Given the description of an element on the screen output the (x, y) to click on. 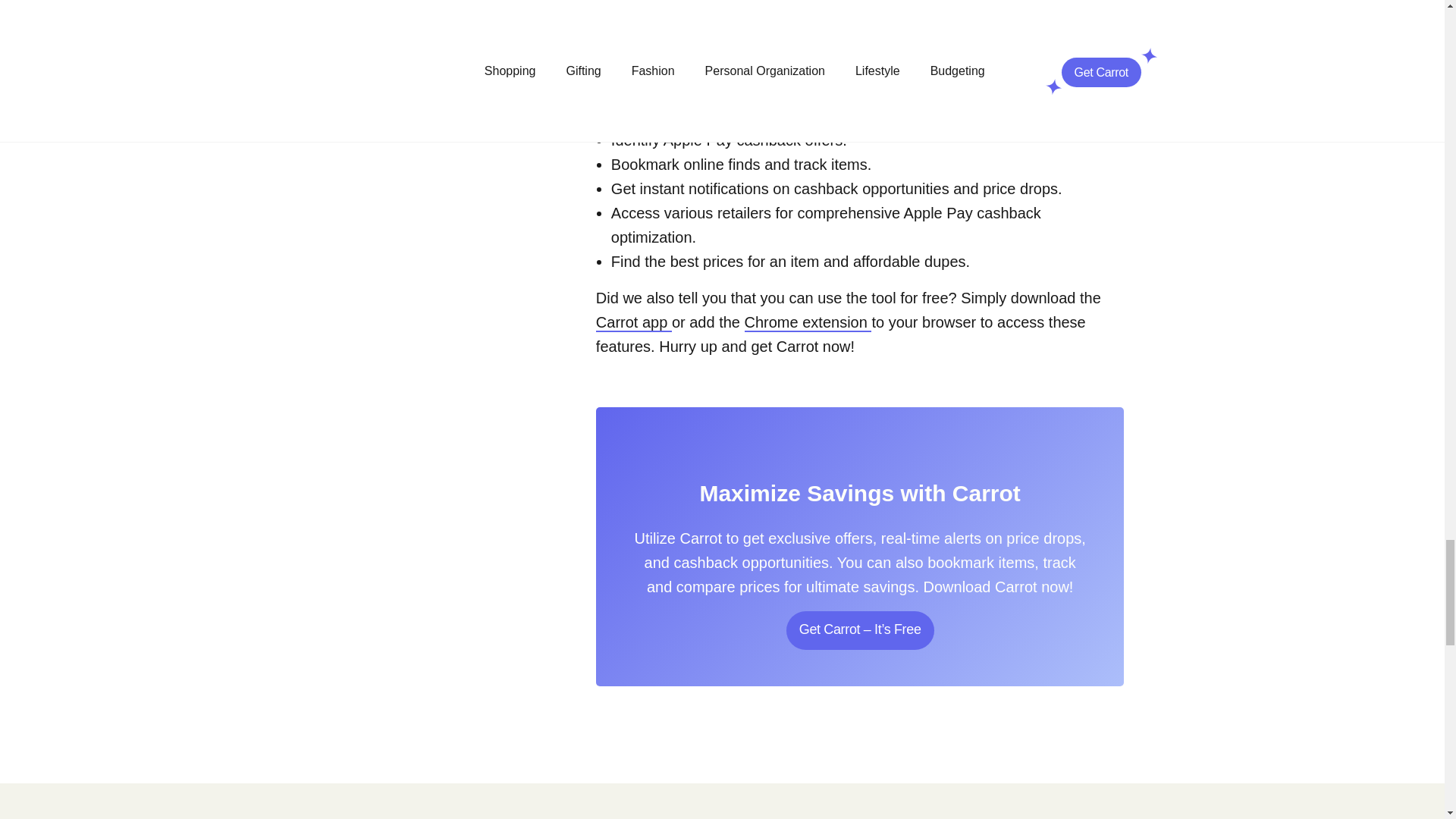
Chrome extension (808, 322)
Carrot app (633, 322)
